Given the description of an element on the screen output the (x, y) to click on. 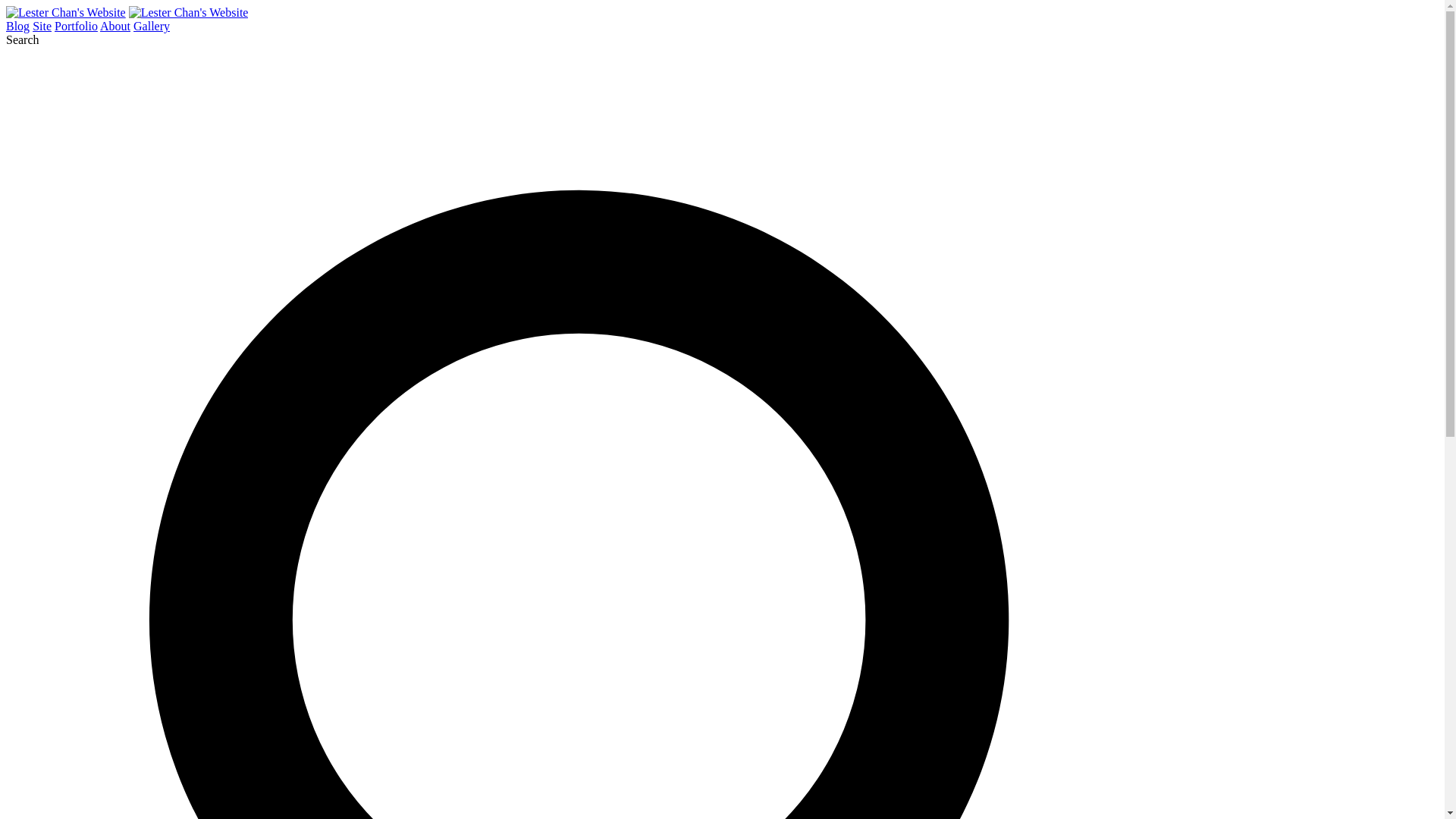
About (115, 25)
Gallery (151, 25)
Blog (17, 25)
Site (41, 25)
Portfolio (76, 25)
Lester Chan's Website (65, 11)
Lester Chan's Website (188, 11)
